Given the description of an element on the screen output the (x, y) to click on. 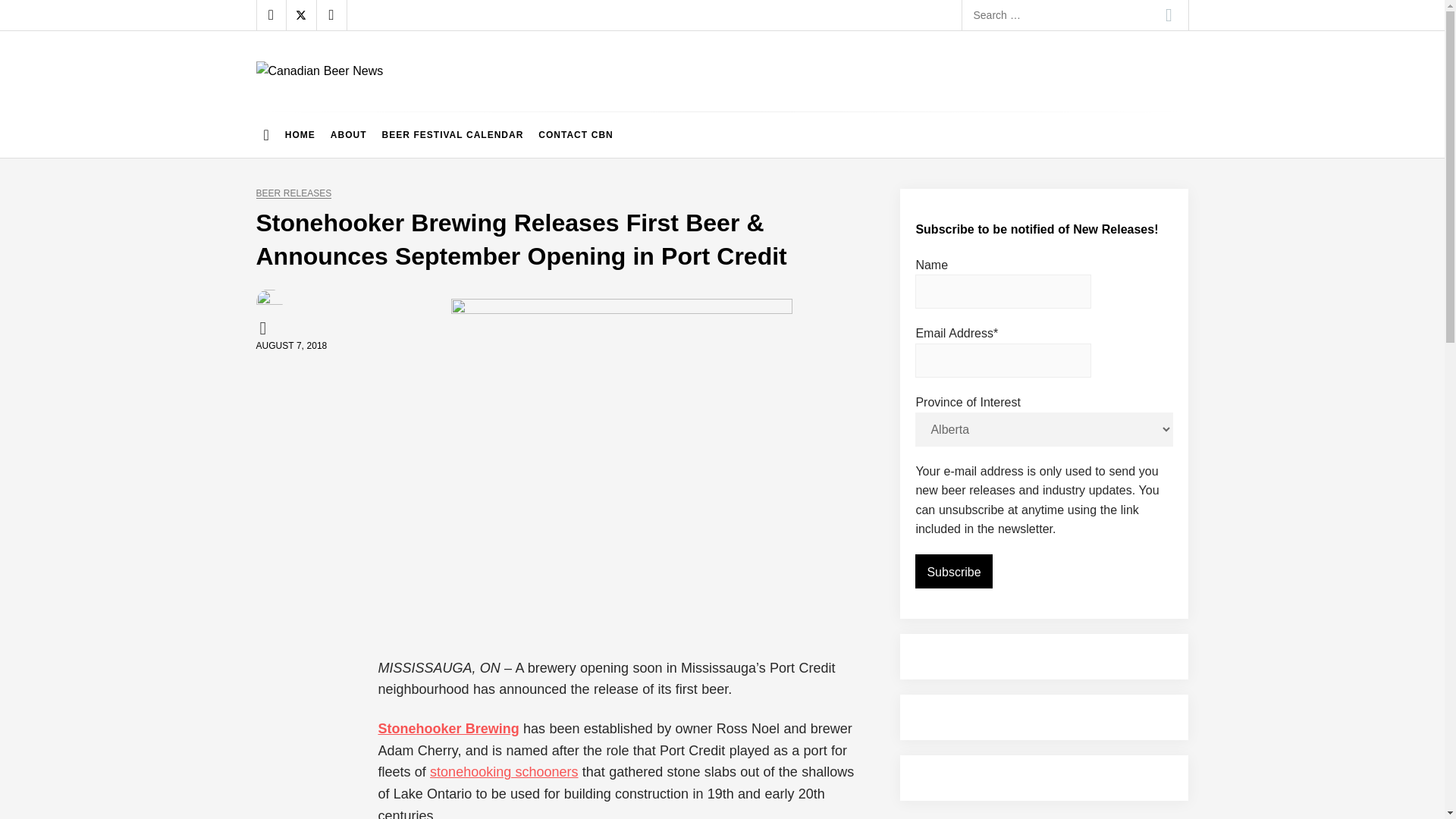
AUGUST 7, 2018 (291, 345)
BEER FESTIVAL CALENDAR (452, 135)
Search (1169, 15)
Subscribe (953, 571)
BEER RELEASES (293, 194)
Canadian Beer News (384, 95)
Subscribe (953, 571)
CONTACT CBN (575, 135)
HOME (300, 135)
stonehooking schooners (503, 771)
Search (1169, 15)
CBN (265, 327)
ABOUT (348, 135)
Stonehooker Brewing (447, 728)
Search (1169, 15)
